Given the description of an element on the screen output the (x, y) to click on. 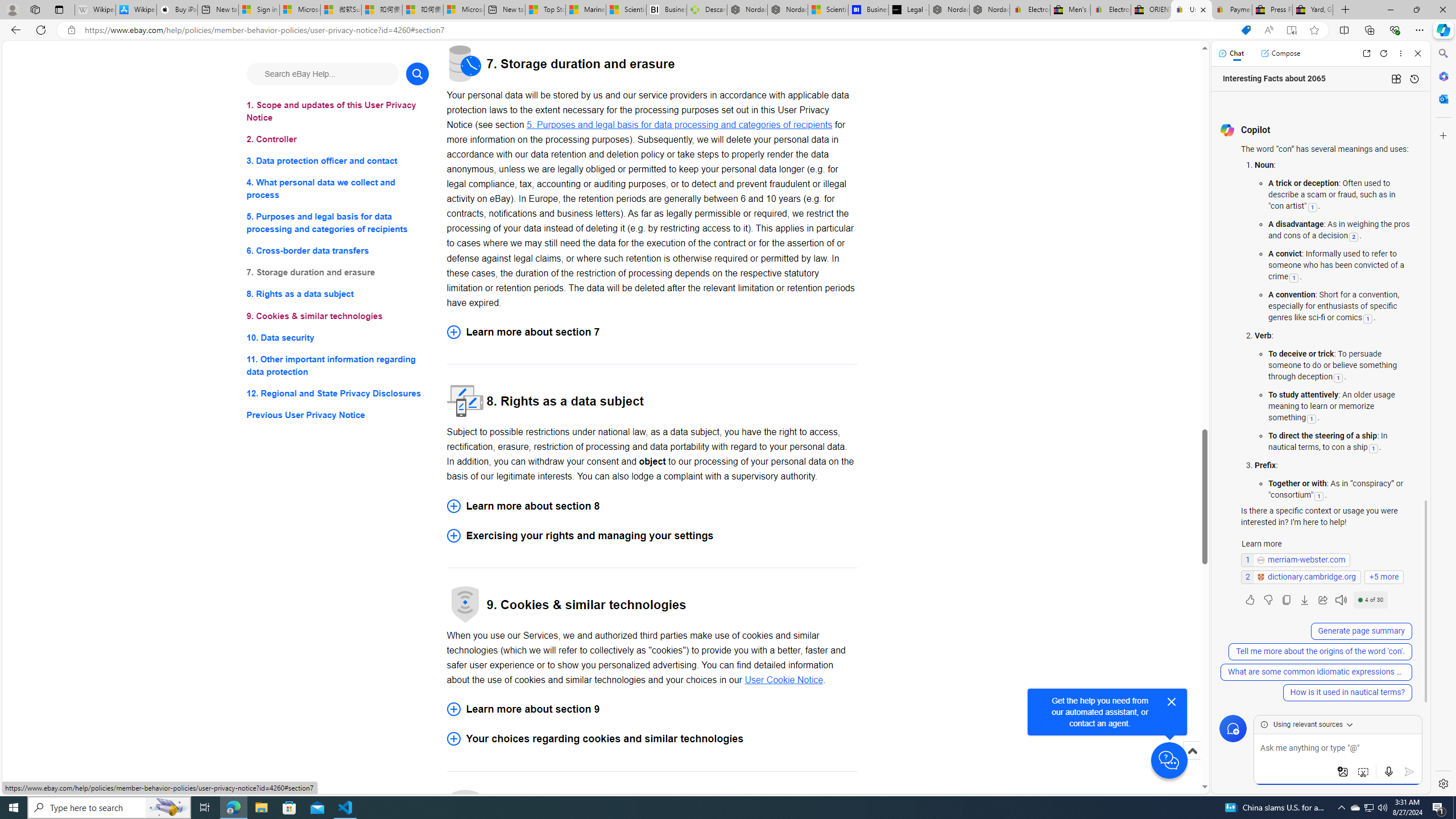
Descarga Driver Updater (706, 9)
Scroll to top (1191, 762)
11. Other important information regarding data protection (337, 365)
12. Regional and State Privacy Disclosures (337, 392)
Payments Terms of Use | eBay.com (1231, 9)
11. Other important information regarding data protection (337, 365)
7. Storage duration and erasure (337, 272)
2. Controller (337, 138)
9. Cookies & similar technologies (337, 315)
